Given the description of an element on the screen output the (x, y) to click on. 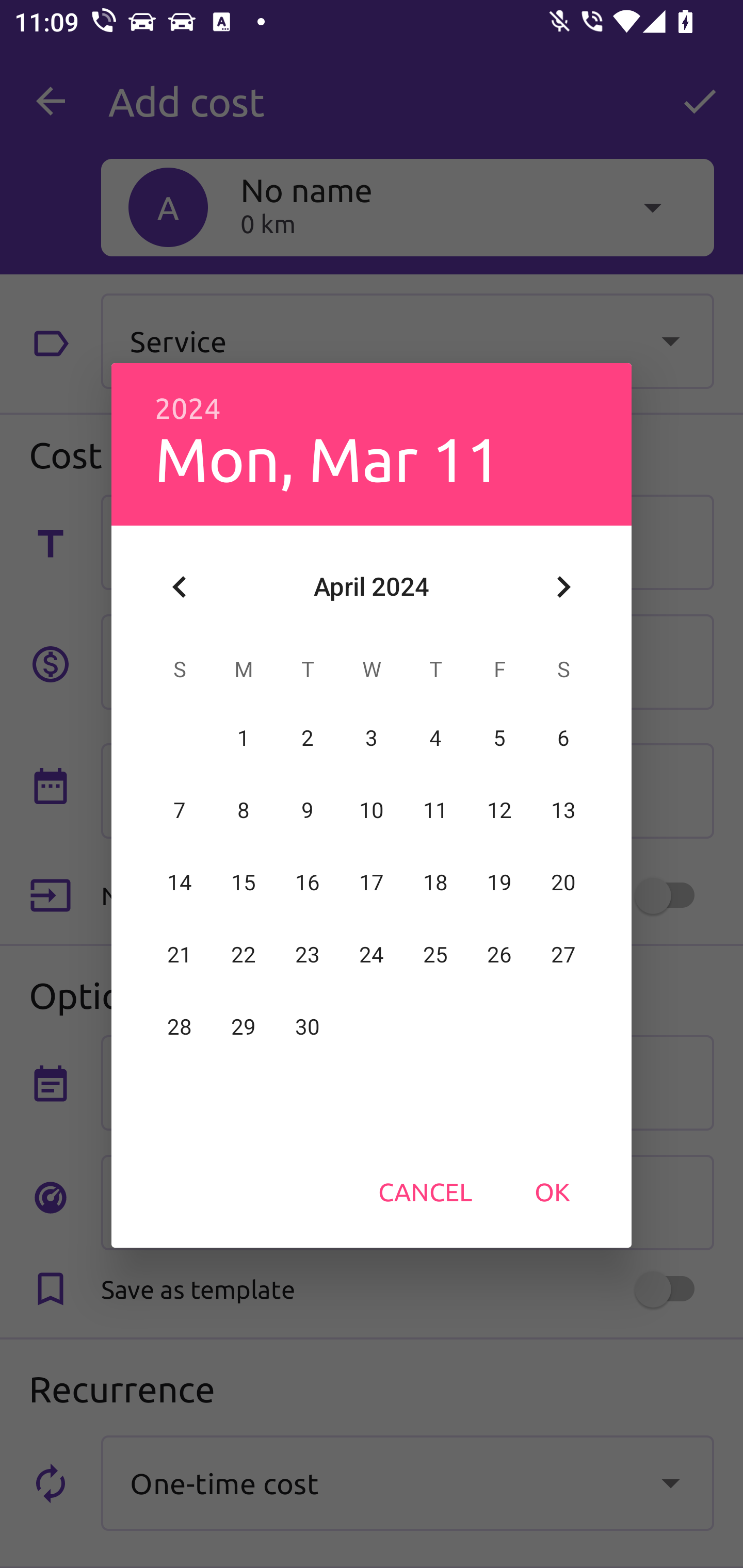
2024 (187, 408)
Mon, Mar 11 (327, 458)
Previous month (178, 587)
Next month (563, 587)
1 01 April 2024 (243, 738)
2 02 April 2024 (307, 738)
3 03 April 2024 (371, 738)
4 04 April 2024 (435, 738)
5 05 April 2024 (499, 738)
6 06 April 2024 (563, 738)
7 07 April 2024 (179, 810)
8 08 April 2024 (243, 810)
9 09 April 2024 (307, 810)
10 10 April 2024 (371, 810)
11 11 April 2024 (435, 810)
12 12 April 2024 (499, 810)
13 13 April 2024 (563, 810)
14 14 April 2024 (179, 882)
15 15 April 2024 (243, 882)
16 16 April 2024 (307, 882)
17 17 April 2024 (371, 882)
18 18 April 2024 (435, 882)
19 19 April 2024 (499, 882)
20 20 April 2024 (563, 882)
21 21 April 2024 (179, 954)
22 22 April 2024 (243, 954)
23 23 April 2024 (307, 954)
24 24 April 2024 (371, 954)
25 25 April 2024 (435, 954)
26 26 April 2024 (499, 954)
27 27 April 2024 (563, 954)
28 28 April 2024 (179, 1026)
29 29 April 2024 (243, 1026)
30 30 April 2024 (307, 1026)
CANCEL (425, 1191)
OK (552, 1191)
